Given the description of an element on the screen output the (x, y) to click on. 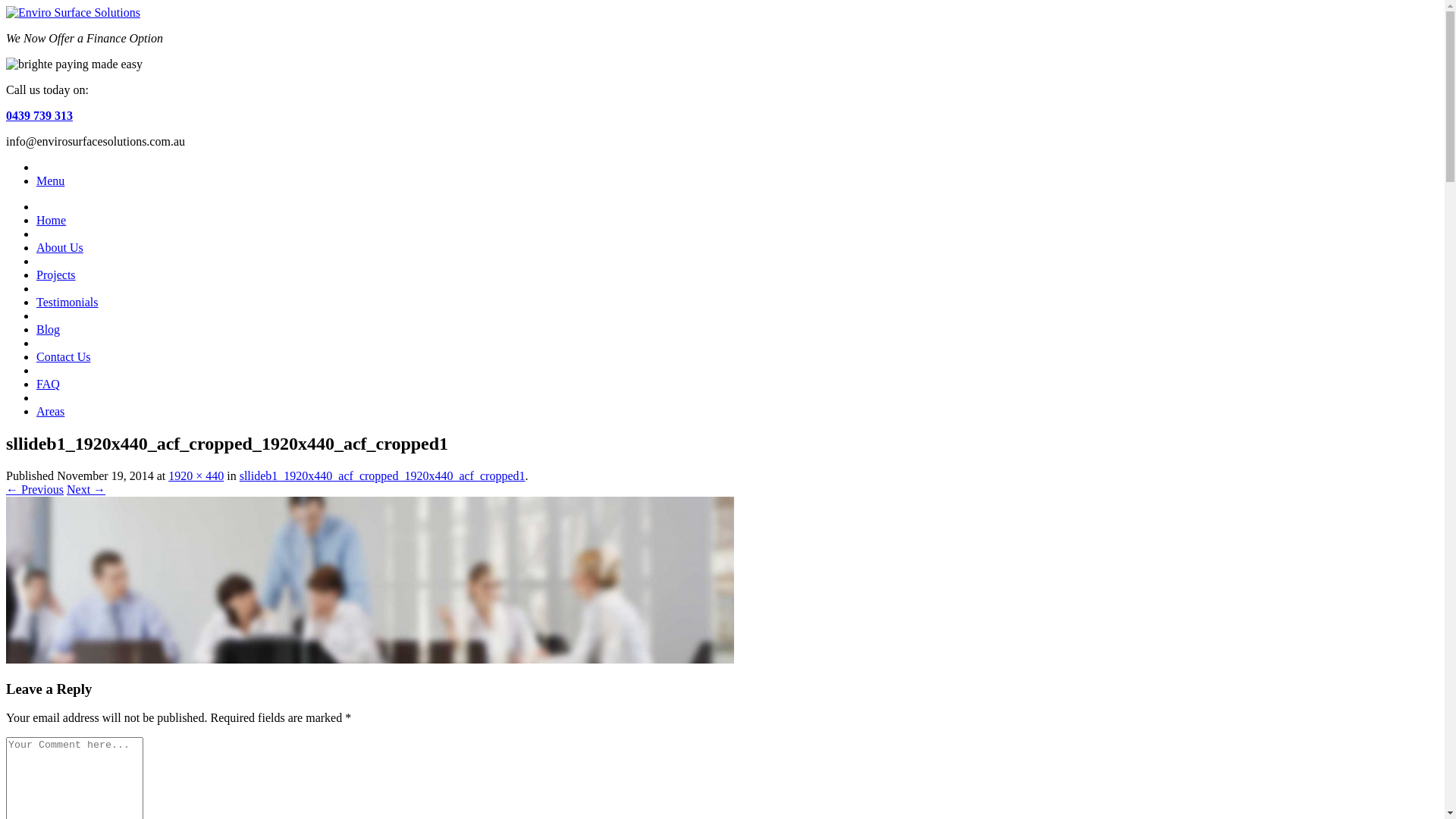
Blog Element type: text (47, 329)
About Us Element type: text (59, 247)
Contact Us Element type: text (63, 356)
Enviro Surface Solutions Element type: hover (73, 12)
FAQ Element type: text (47, 383)
sllideb1_1920x440_acf_cropped_1920x440_acf_cropped1 Element type: text (382, 475)
sllideb1_1920x440_acf_cropped_1920x440_acf_cropped1 Element type: hover (370, 658)
Areas Element type: text (50, 410)
Testimonials Element type: text (67, 301)
Projects Element type: text (55, 274)
0439 739 313 Element type: text (39, 115)
Home Element type: text (50, 219)
Menu Element type: text (50, 180)
